Given the description of an element on the screen output the (x, y) to click on. 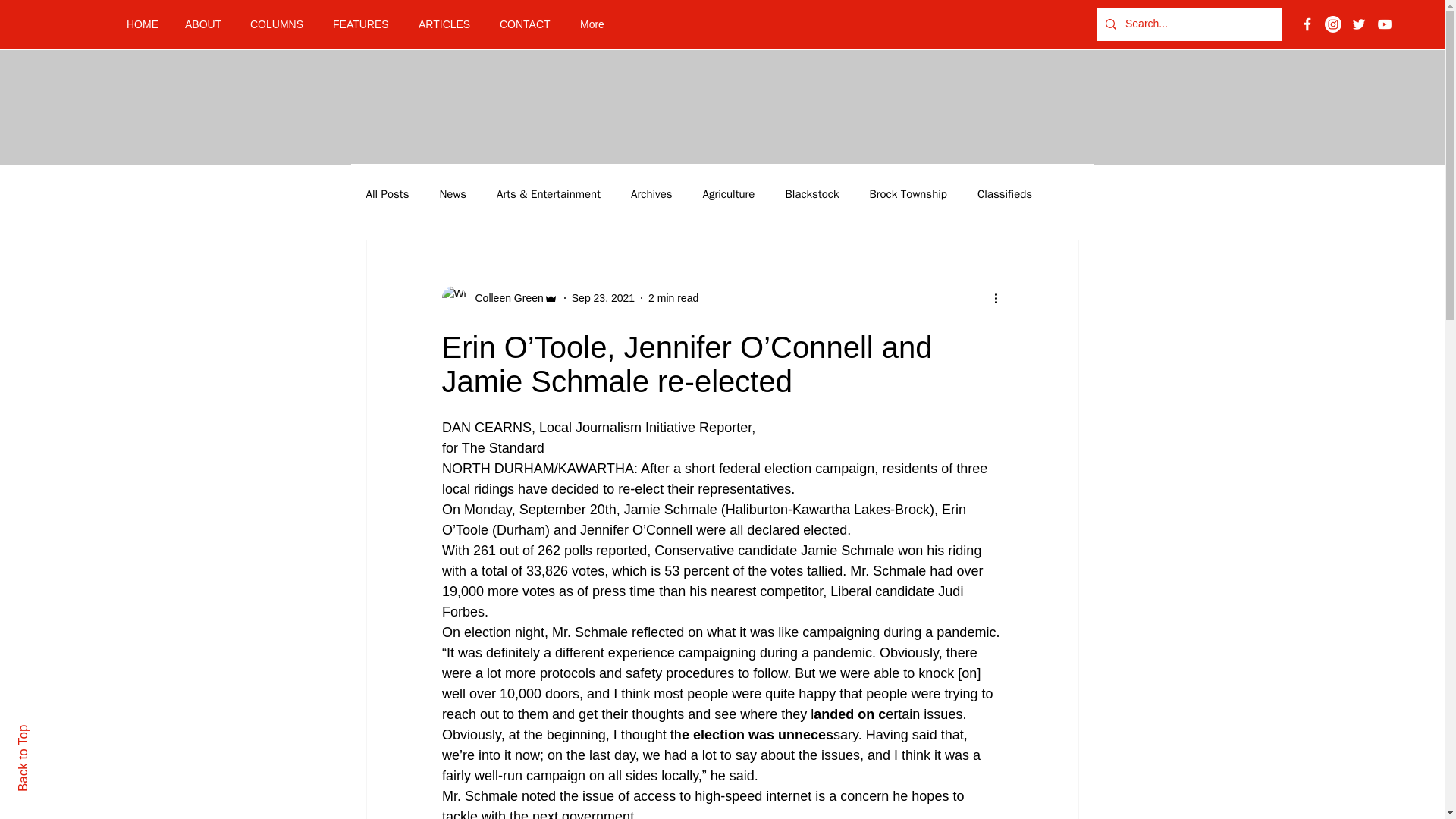
CONTACT (528, 24)
Colleen Green (504, 297)
ABOUT (205, 24)
Agriculture (729, 193)
Archives (651, 193)
All Posts (387, 193)
Classifieds (1004, 193)
HOME (144, 24)
2 min read (672, 297)
News (452, 193)
Sep 23, 2021 (603, 297)
Blackstock (811, 193)
Brock Township (907, 193)
